Given the description of an element on the screen output the (x, y) to click on. 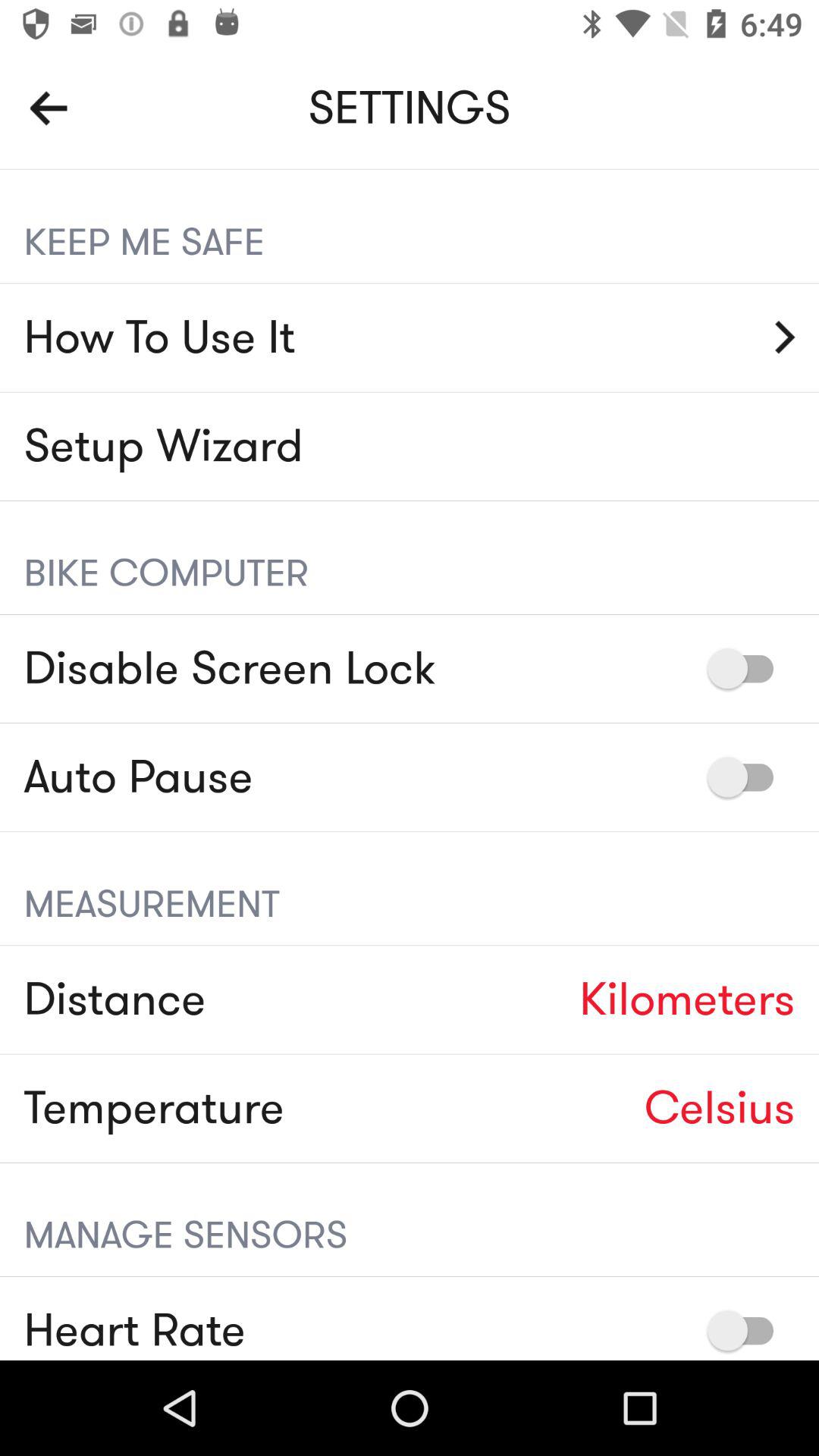
go back (48, 108)
